Given the description of an element on the screen output the (x, y) to click on. 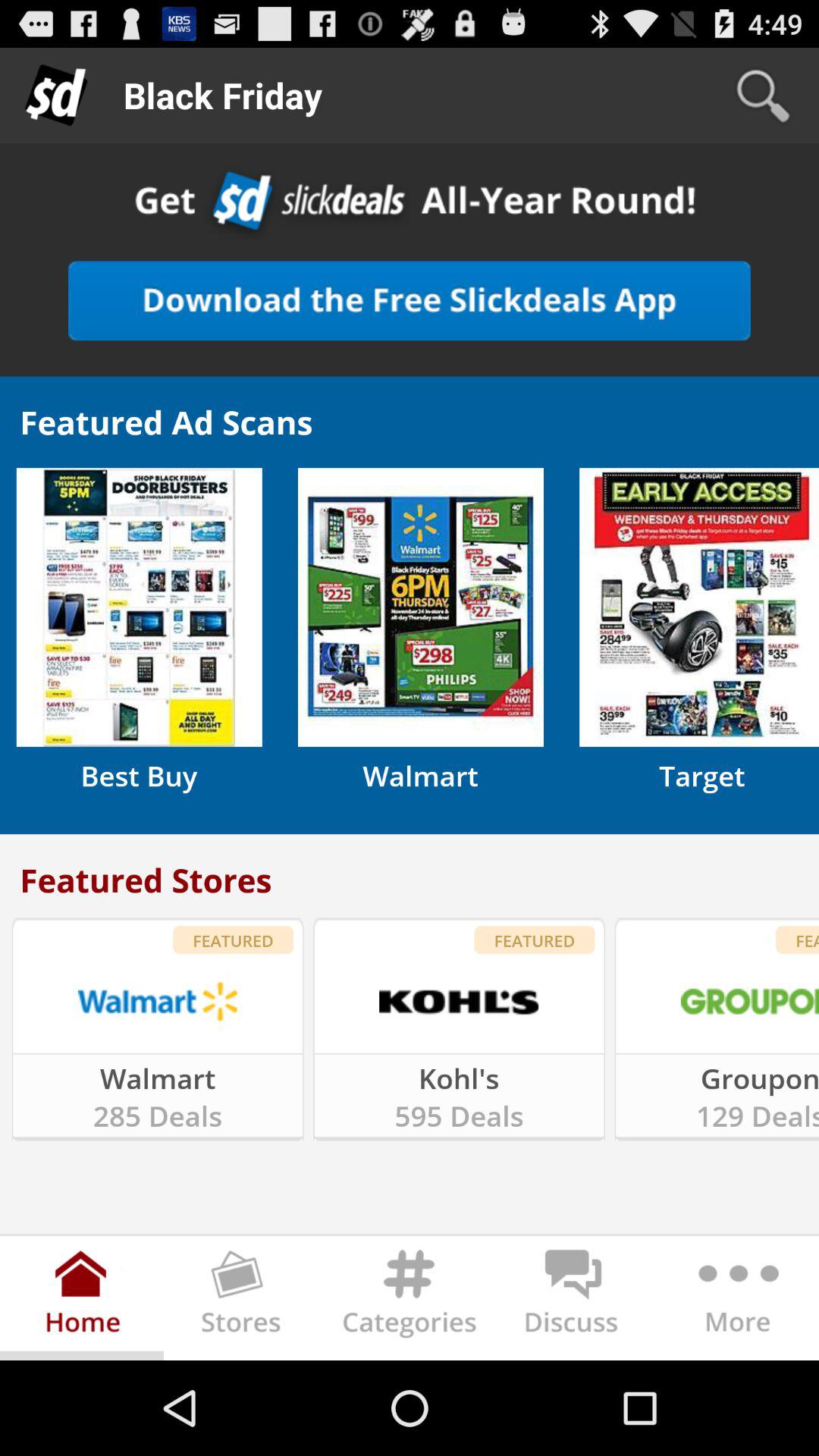
categories option (409, 1301)
